Given the description of an element on the screen output the (x, y) to click on. 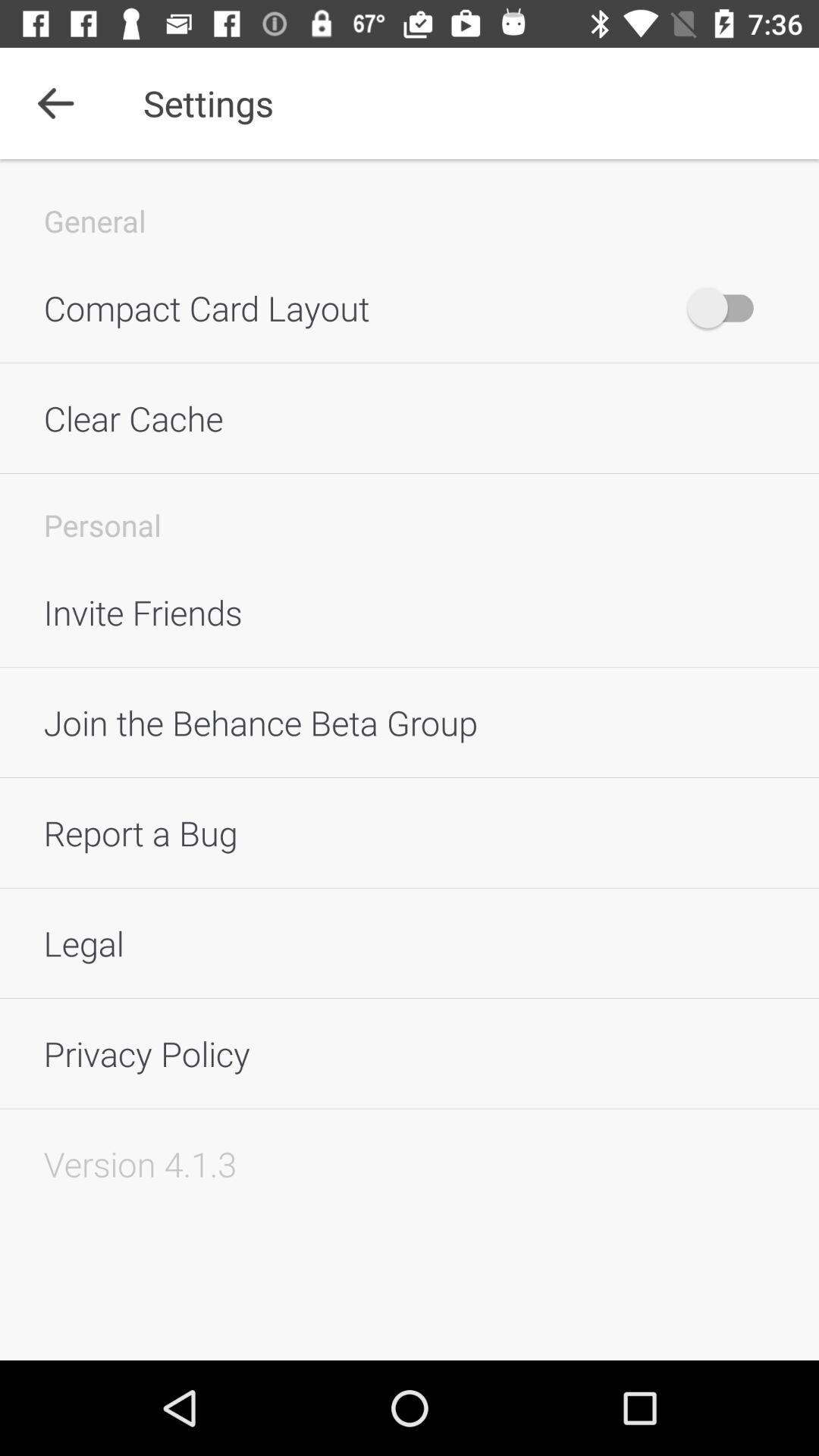
turn off the item next to the settings icon (55, 103)
